Given the description of an element on the screen output the (x, y) to click on. 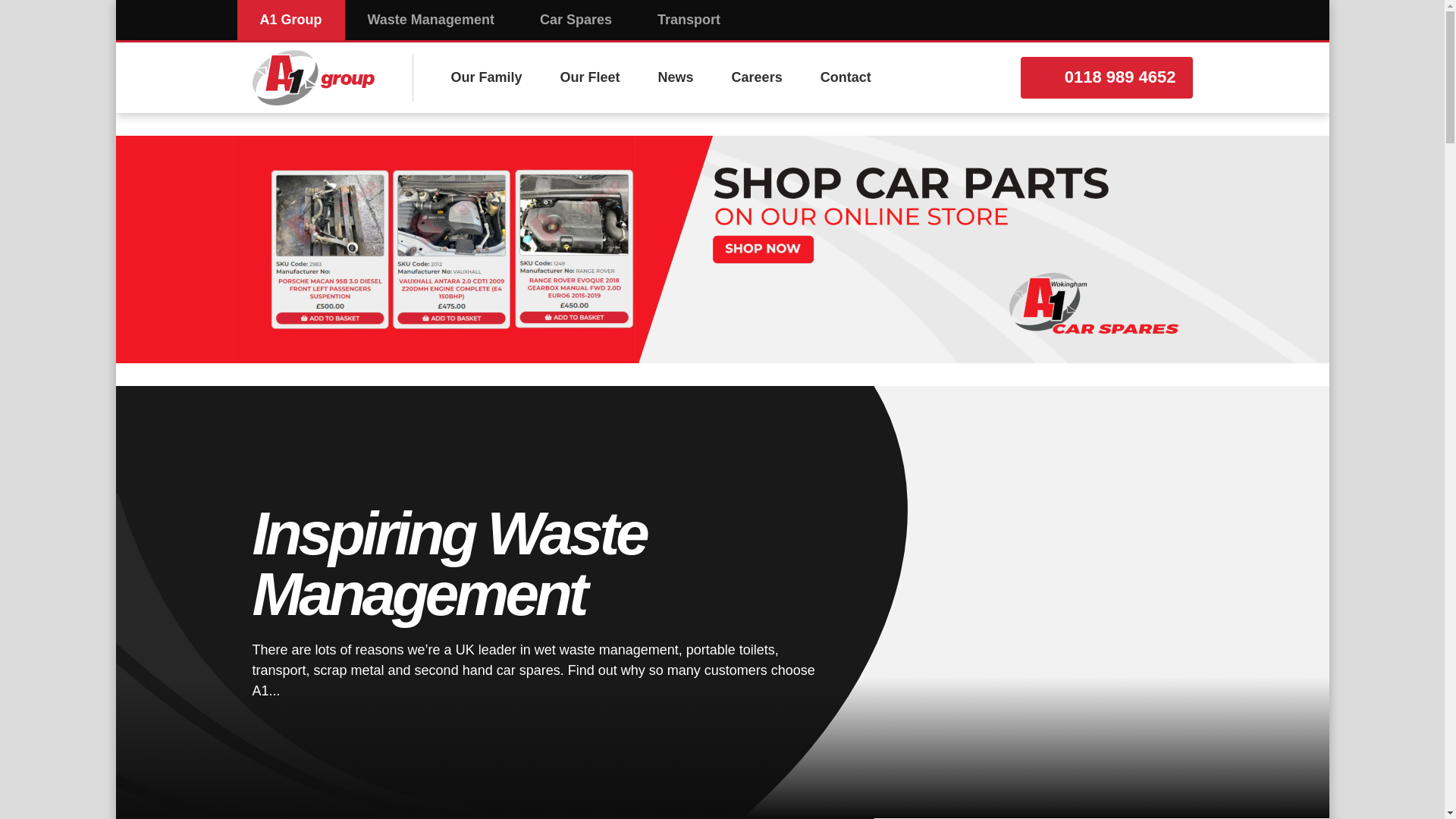
Transport (688, 20)
Car Spares (575, 20)
0118 989 4652 (1106, 77)
A1 Group (289, 20)
Contact (845, 77)
Our Family (486, 77)
Careers (757, 77)
Waste Management (430, 20)
Our Fleet (590, 77)
